Given the description of an element on the screen output the (x, y) to click on. 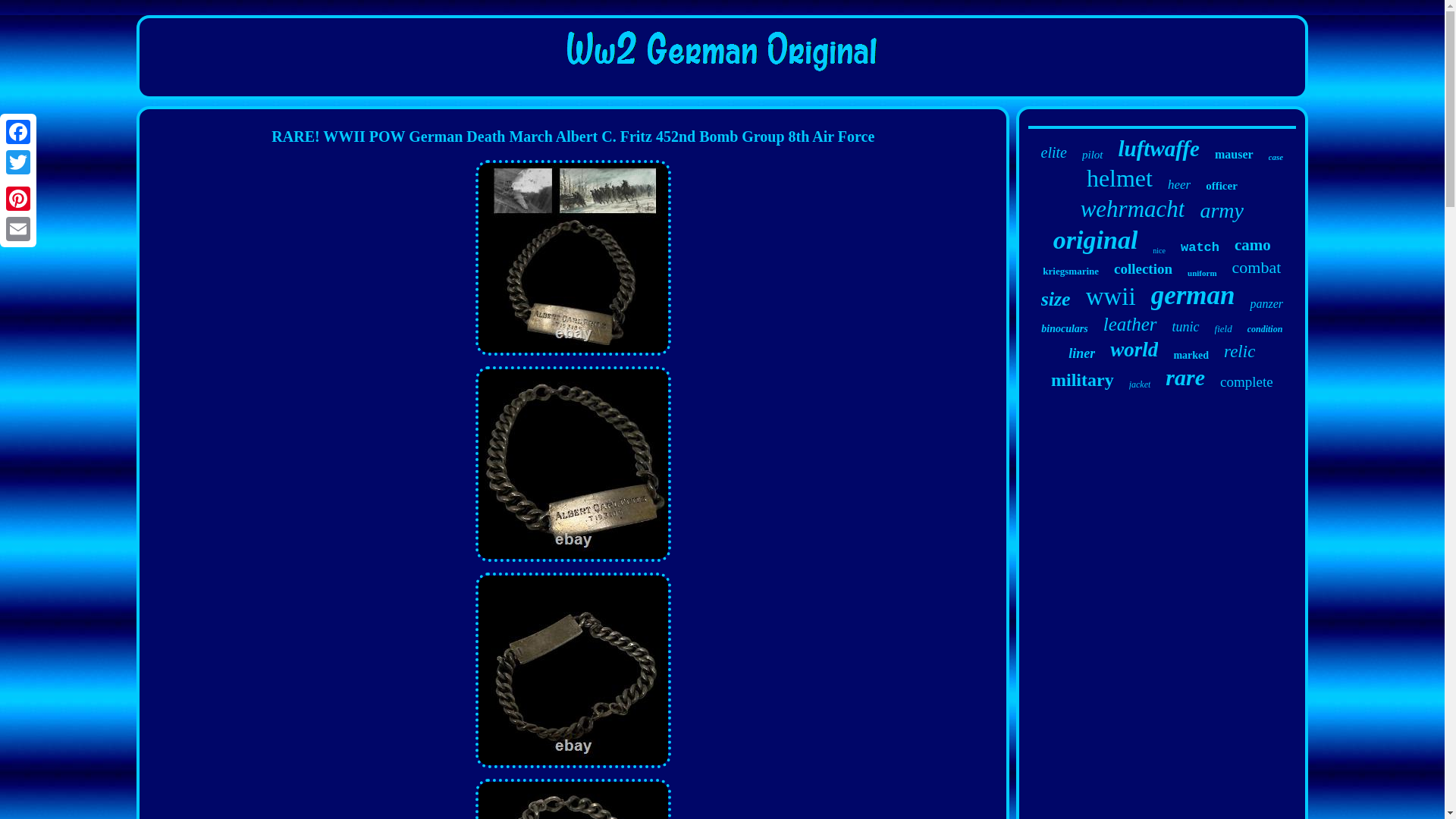
leather (1130, 323)
heer (1179, 184)
camo (1252, 244)
condition (1264, 328)
elite (1054, 152)
pilot (1092, 154)
tunic (1185, 326)
helmet (1119, 178)
officer (1221, 185)
